Given the description of an element on the screen output the (x, y) to click on. 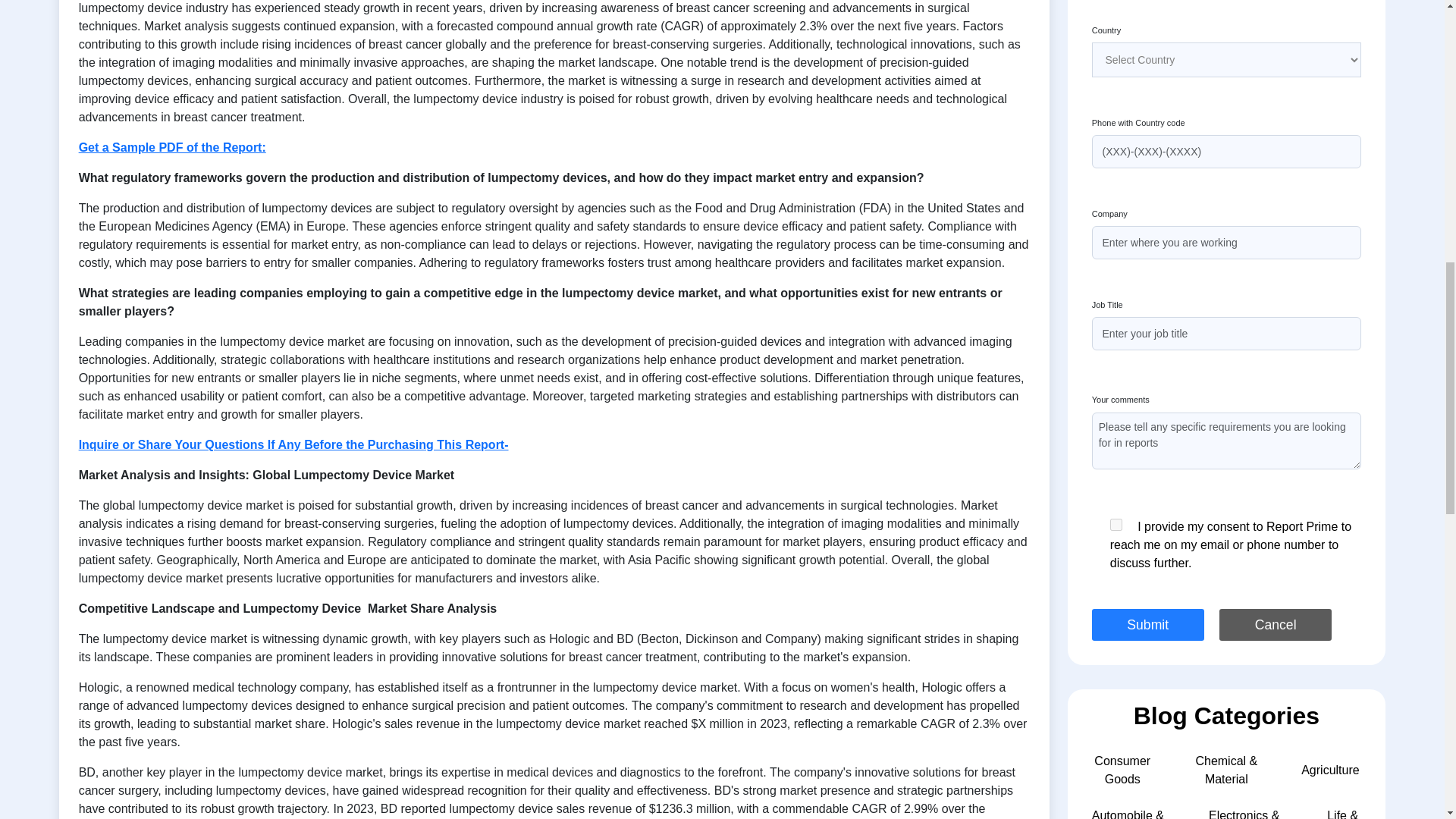
Cancel (1276, 623)
Submit (1148, 623)
Consumer Goods (1122, 769)
Get a Sample PDF of the Report: (172, 146)
Agriculture (1329, 769)
